Given the description of an element on the screen output the (x, y) to click on. 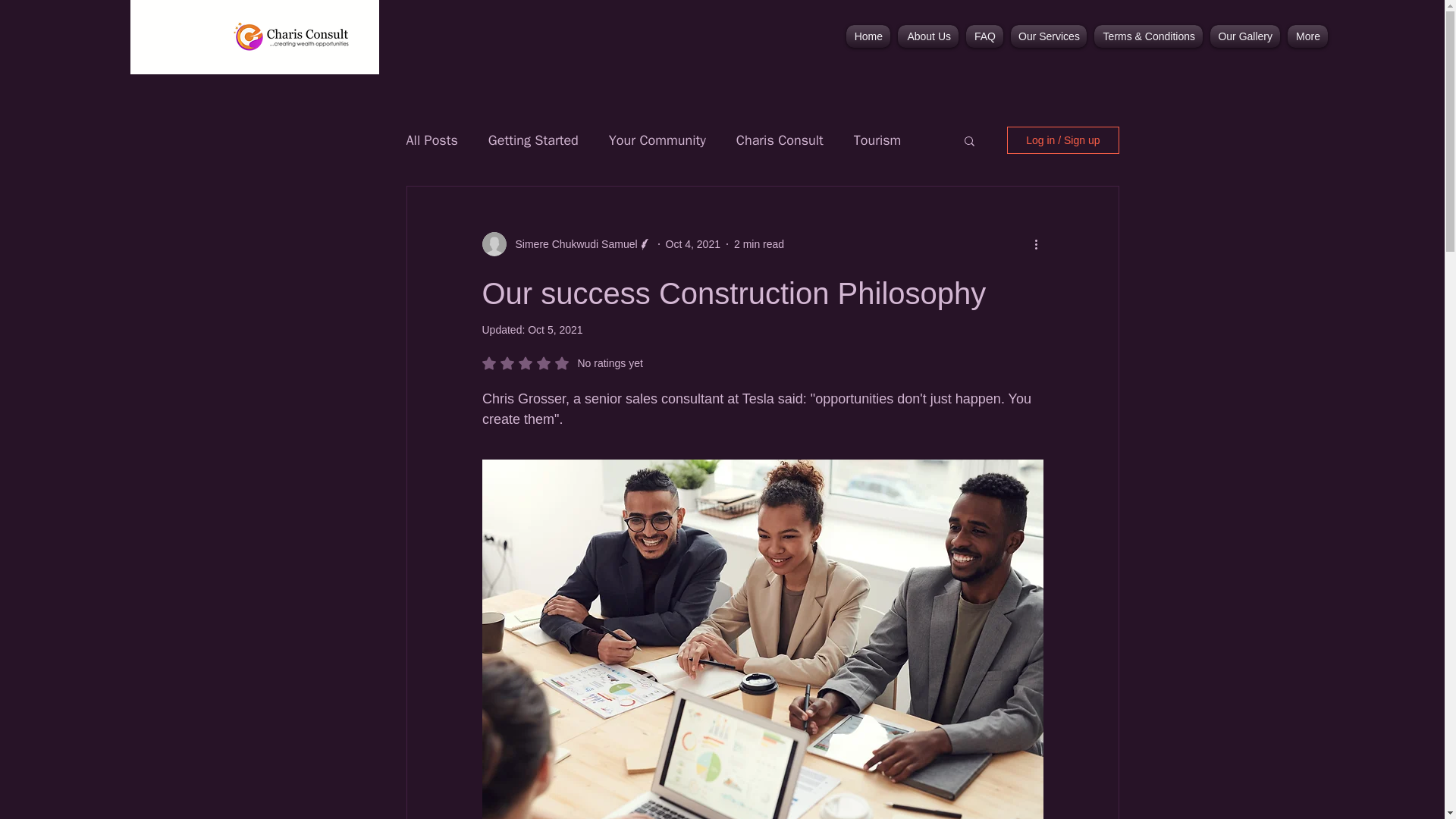
All Posts (432, 140)
Oct 5, 2021 (554, 329)
FAQ (984, 36)
Oct 4, 2021 (692, 244)
Your Community (657, 140)
Home (868, 36)
2 min read (758, 244)
Charis Consult (780, 140)
Our Gallery (1245, 36)
Our Services (1048, 36)
Getting Started (562, 363)
Simere Chukwudi Samuel (532, 140)
About Us (571, 244)
Simere Chukwudi Samuel (927, 36)
